Given the description of an element on the screen output the (x, y) to click on. 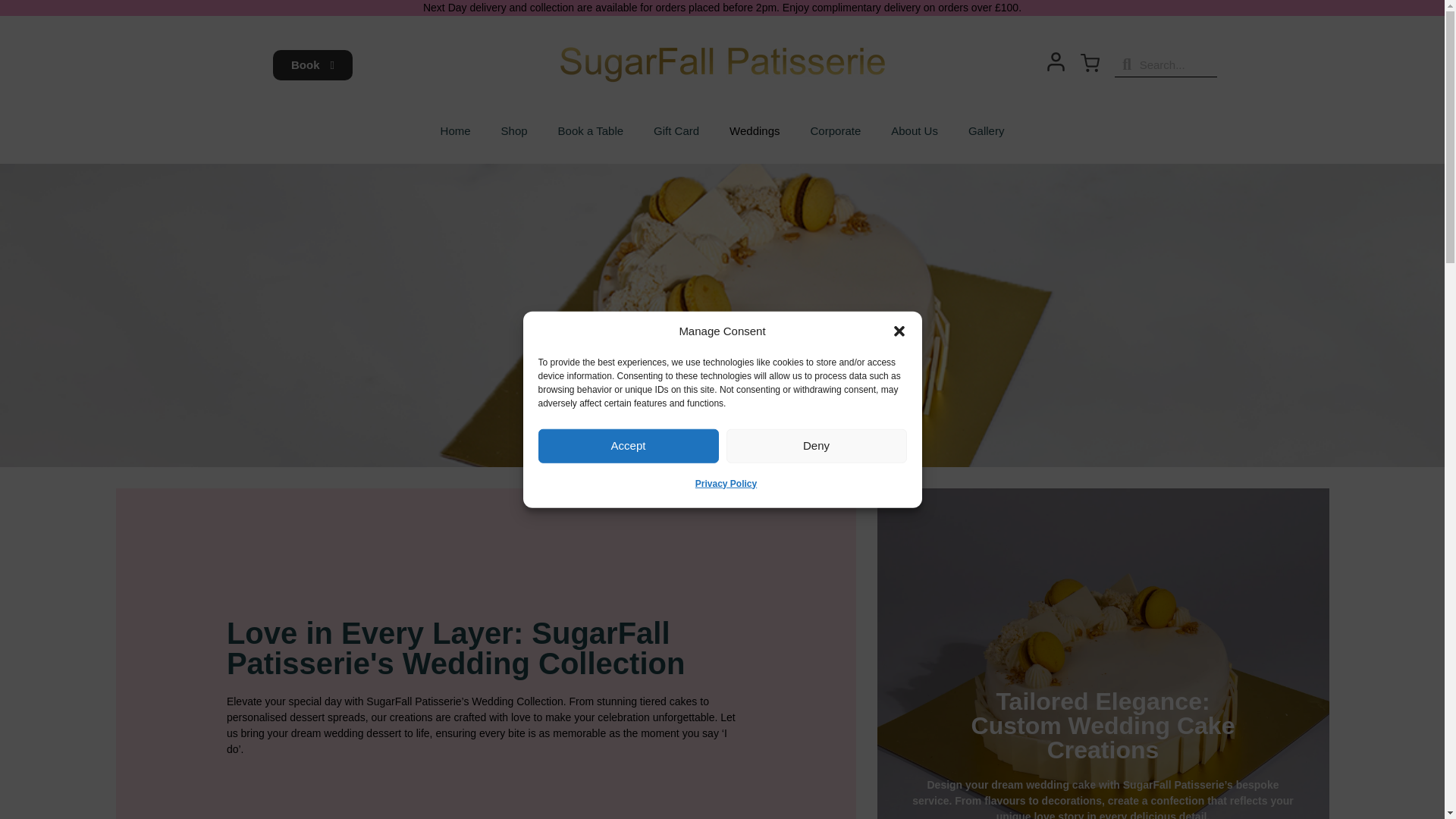
Book a Table (591, 130)
Book (312, 64)
Accept (628, 445)
Weddings (754, 130)
Shop (514, 130)
Deny (816, 445)
Gift Card (676, 130)
Privacy Policy (726, 483)
Corporate (835, 130)
Home (455, 130)
Gallery (986, 130)
About Us (914, 130)
